Given the description of an element on the screen output the (x, y) to click on. 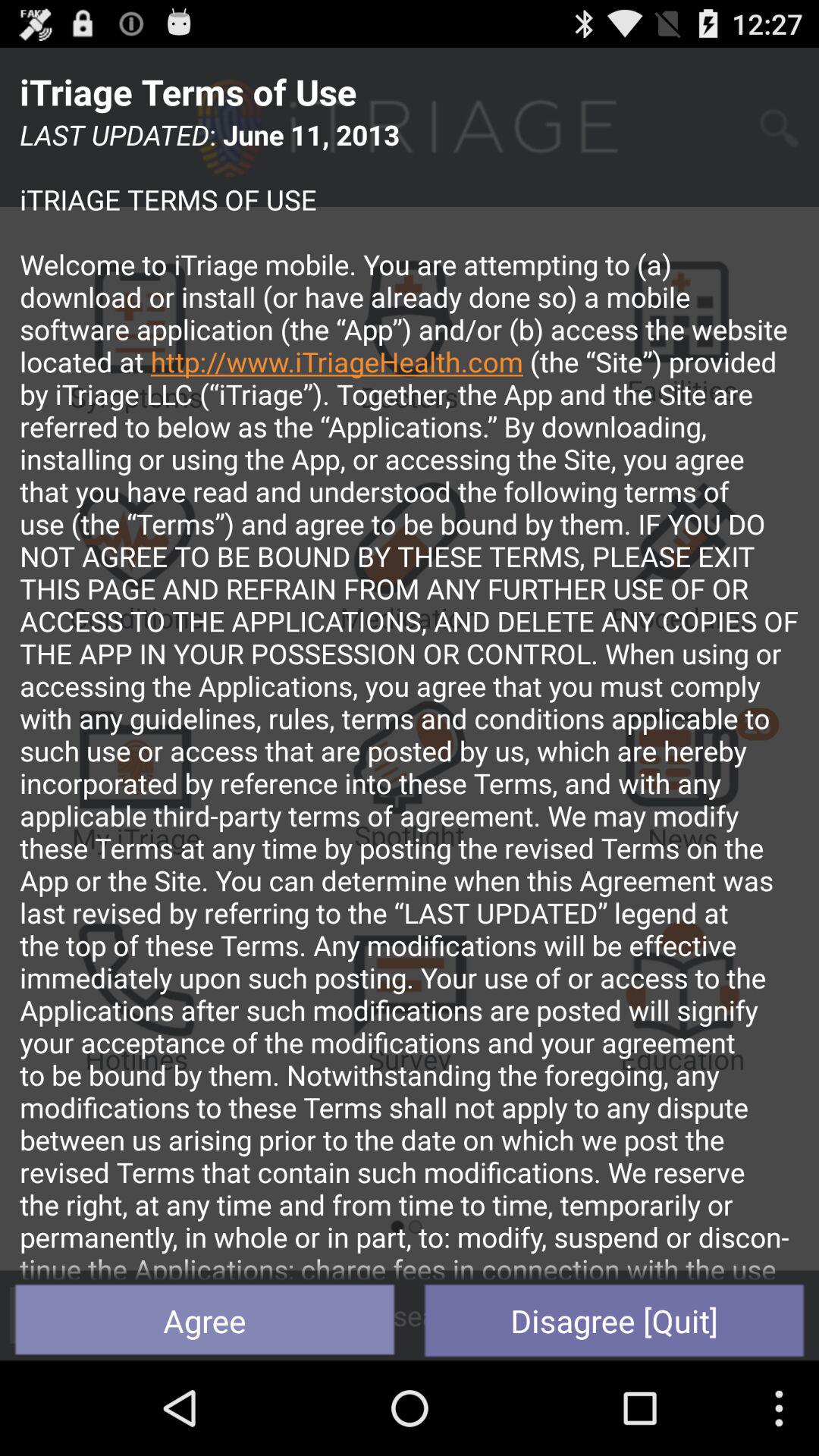
press last updated june at the center (409, 698)
